Given the description of an element on the screen output the (x, y) to click on. 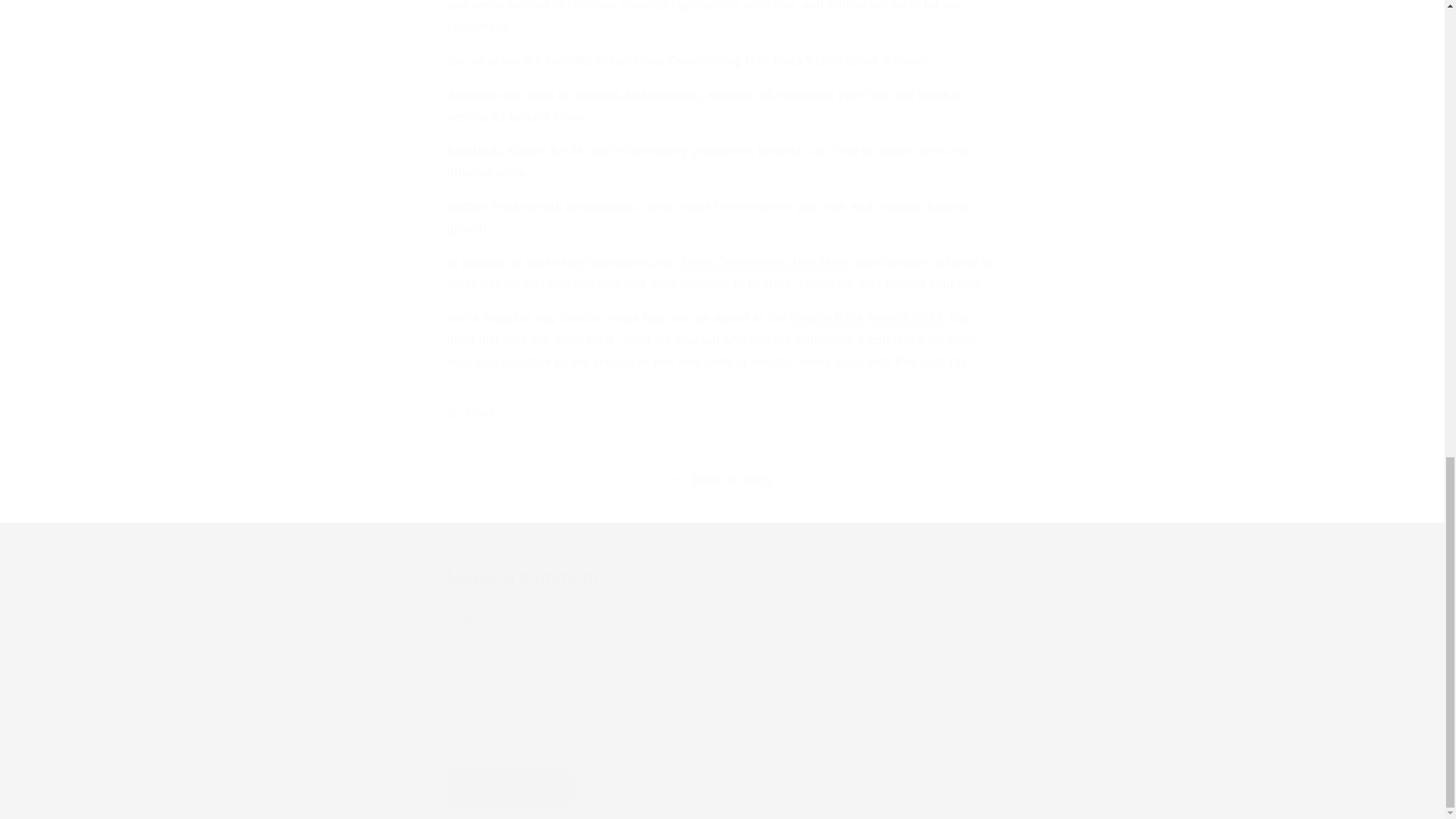
Beauty Bible Awards 2023 (866, 318)
Post comment (510, 787)
Deep Conditioning Hair Mask (765, 262)
Post comment (510, 787)
Share (721, 412)
